Given the description of an element on the screen output the (x, y) to click on. 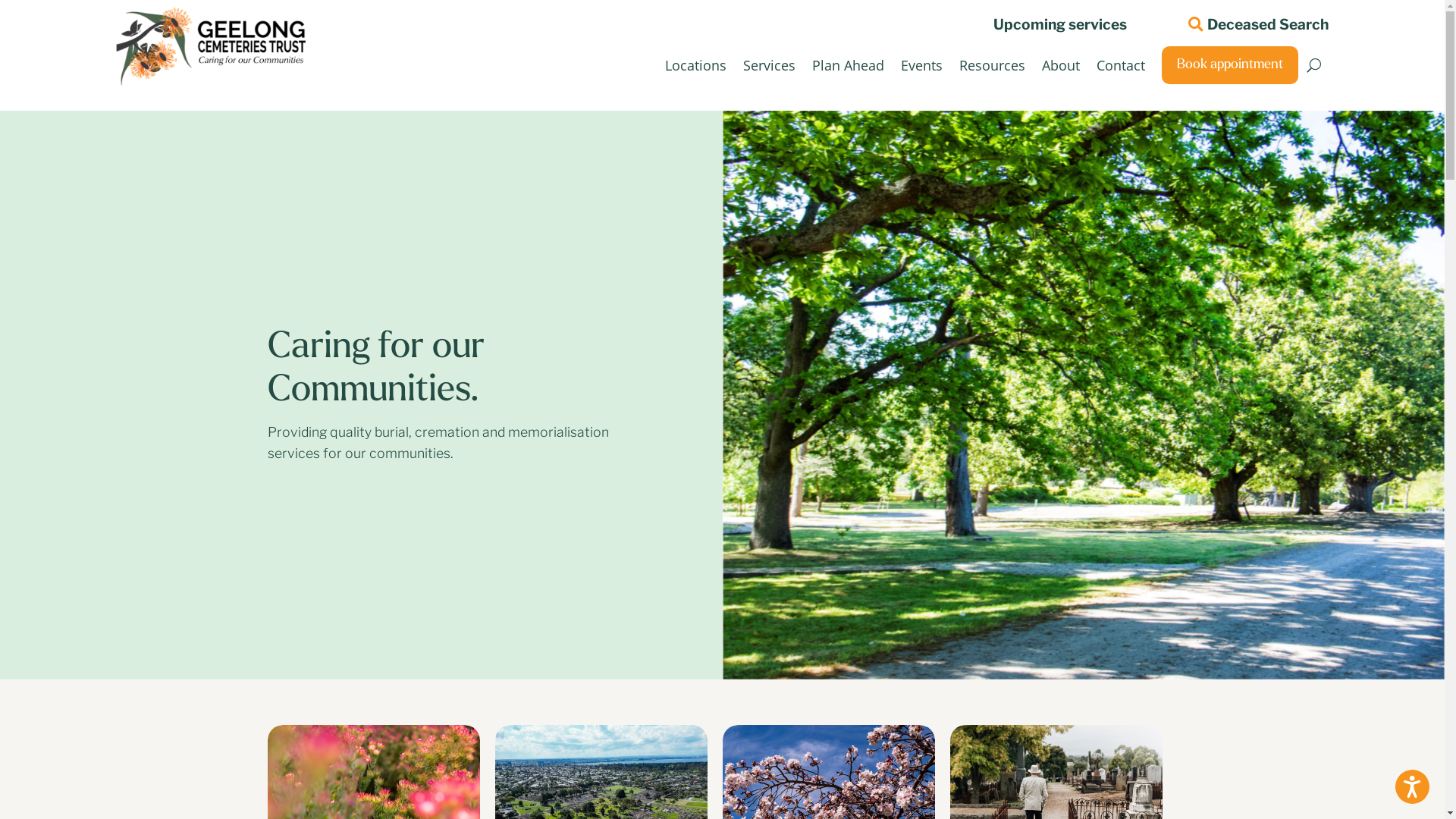
Contact Element type: text (1120, 65)
About Element type: text (1060, 65)
Locations Element type: text (694, 65)
Upcoming services Element type: text (1052, 21)
Plan Ahead Element type: text (847, 65)
Deceased Search Element type: text (1253, 21)
Book appointment Element type: text (1229, 65)
Events Element type: text (921, 65)
Services Element type: text (769, 65)
Resources Element type: text (991, 65)
